Given the description of an element on the screen output the (x, y) to click on. 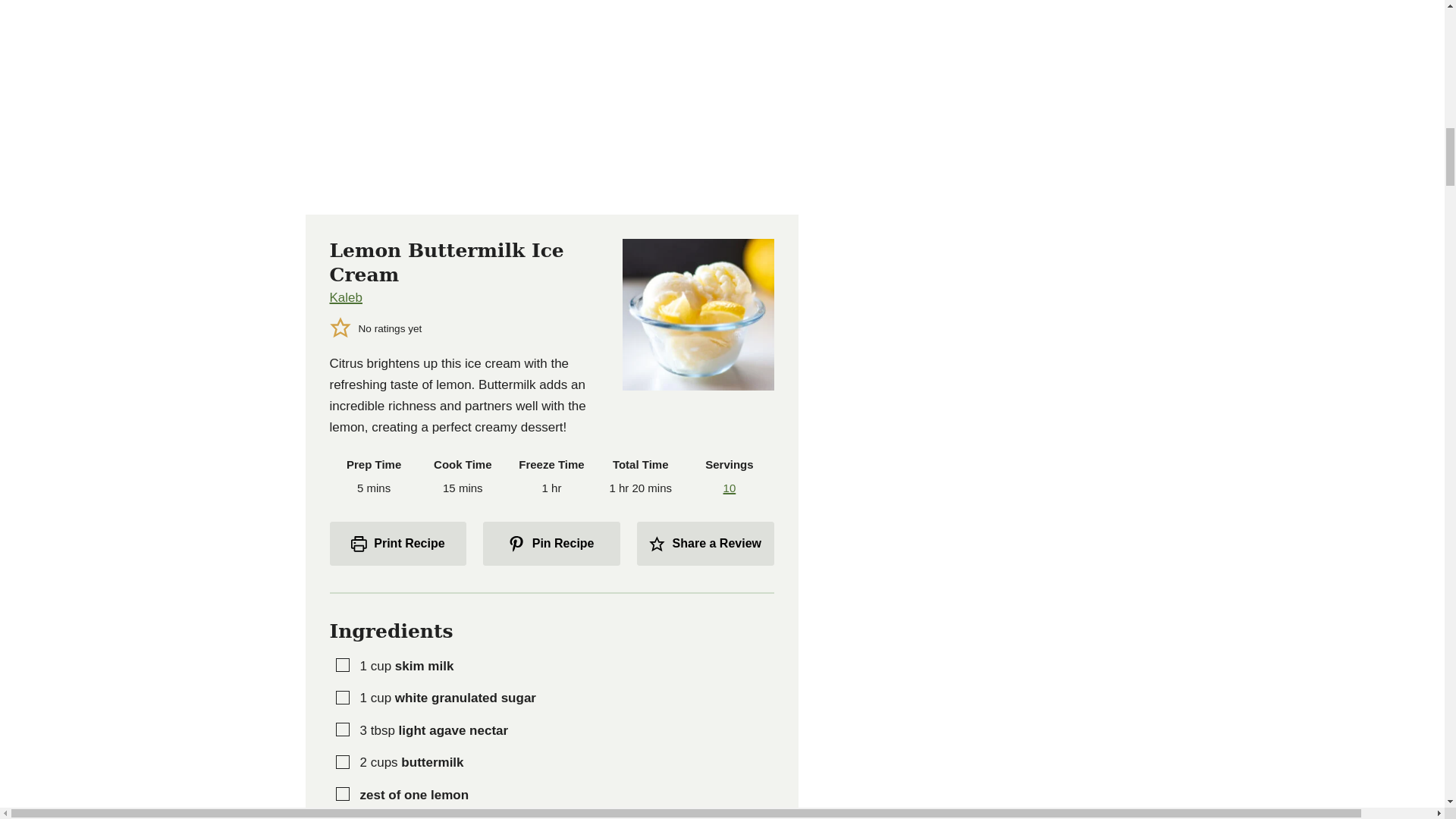
Lemon Buttermilk Ice Cream (550, 98)
Kaleb (345, 297)
